Given the description of an element on the screen output the (x, y) to click on. 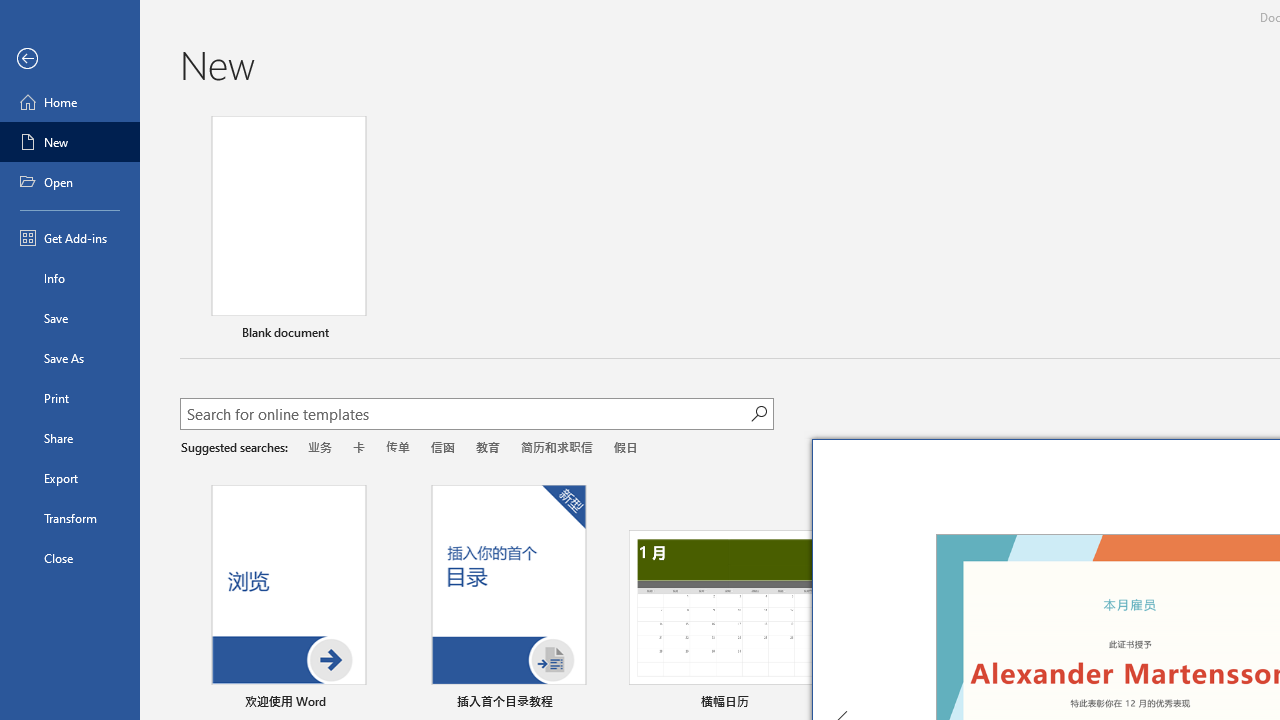
Info (69, 277)
New (69, 141)
Search for online templates (465, 416)
Get Add-ins (69, 237)
Save As (69, 357)
Start searching (758, 413)
Pin to list (595, 703)
